Given the description of an element on the screen output the (x, y) to click on. 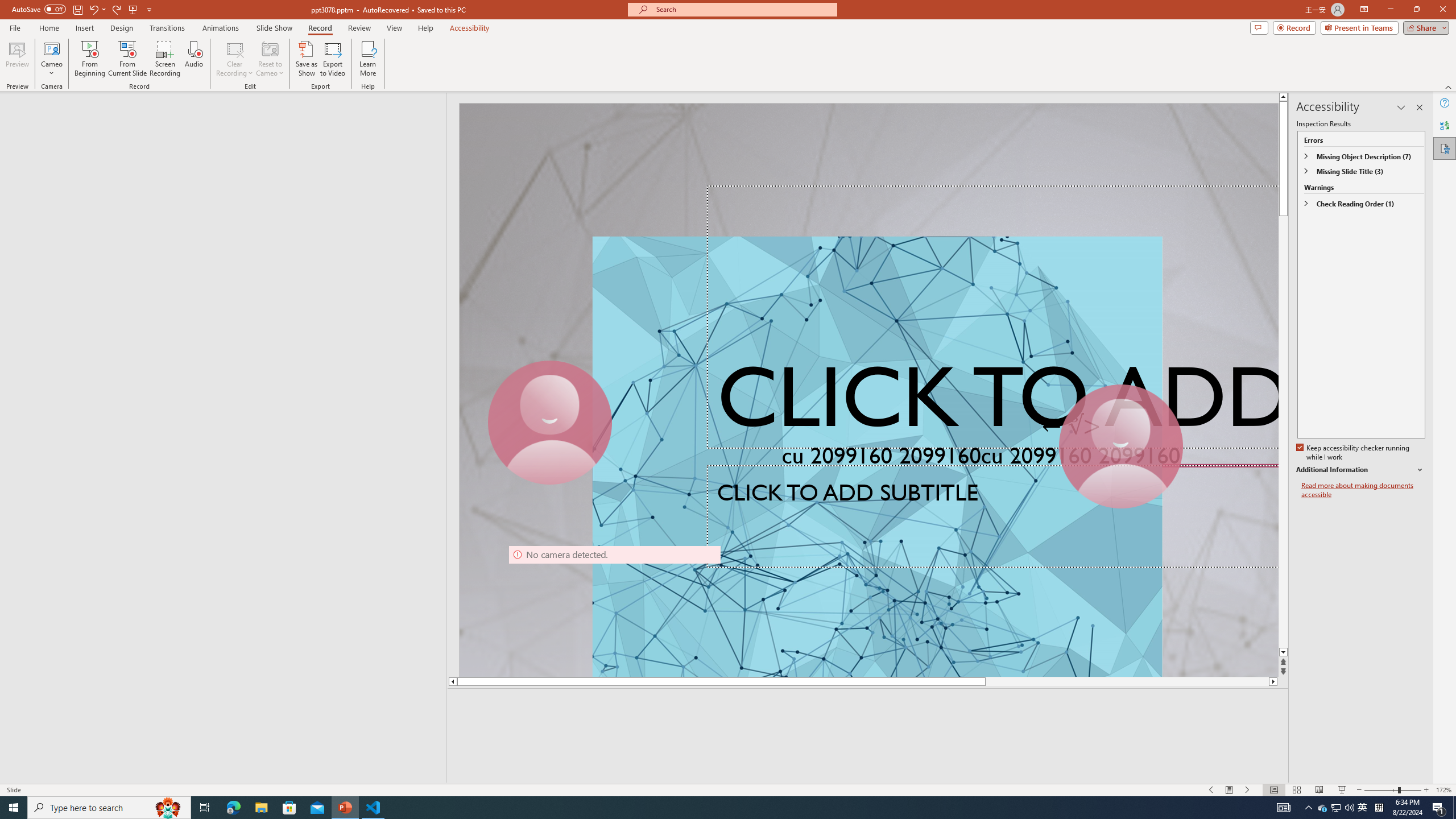
From Current Slide... (127, 58)
Menu On (1229, 790)
Learn More (368, 58)
